Given the description of an element on the screen output the (x, y) to click on. 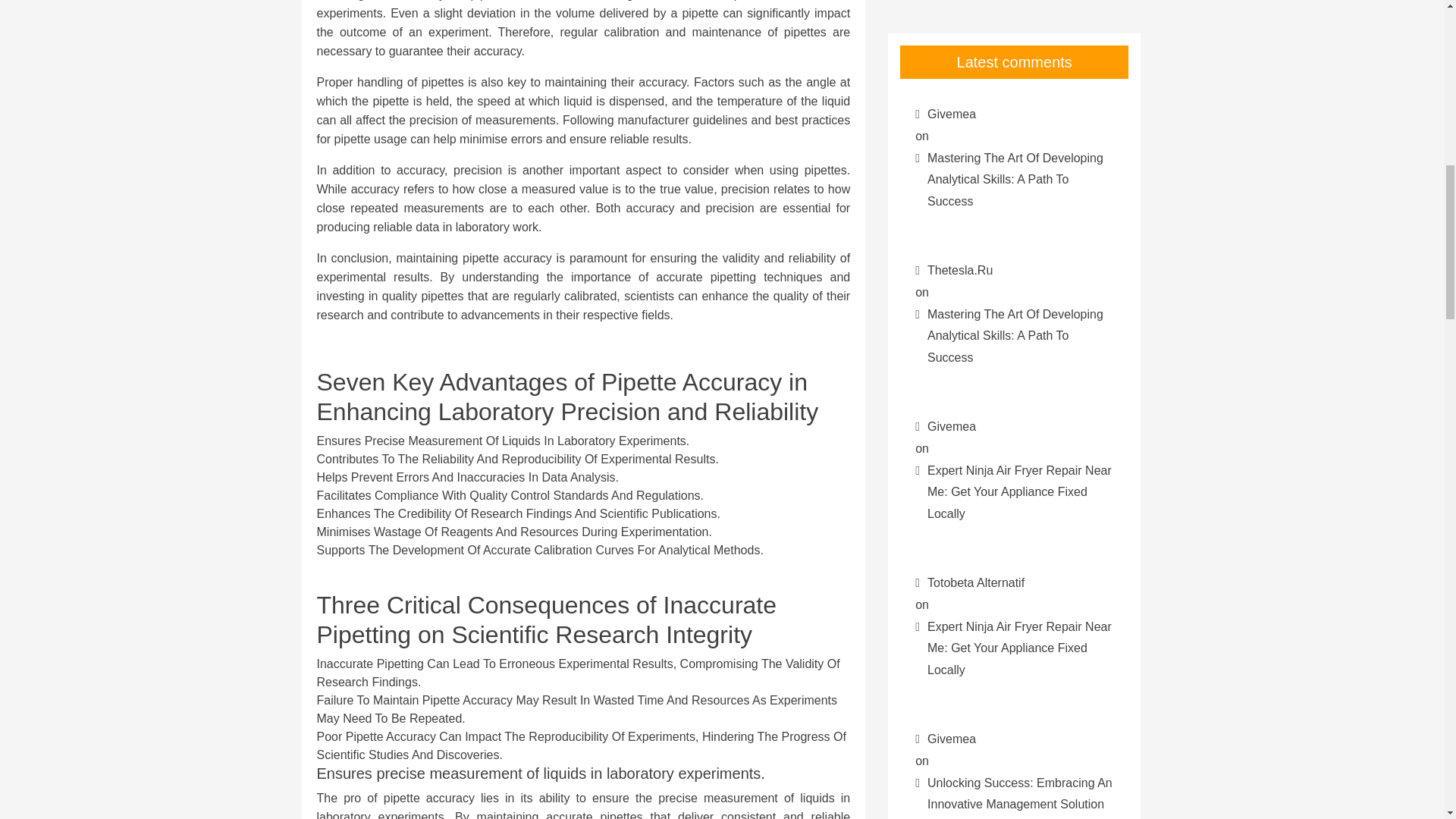
Helps Prevent Errors And Inaccuracies In Data Analysis. (467, 477)
